Given the description of an element on the screen output the (x, y) to click on. 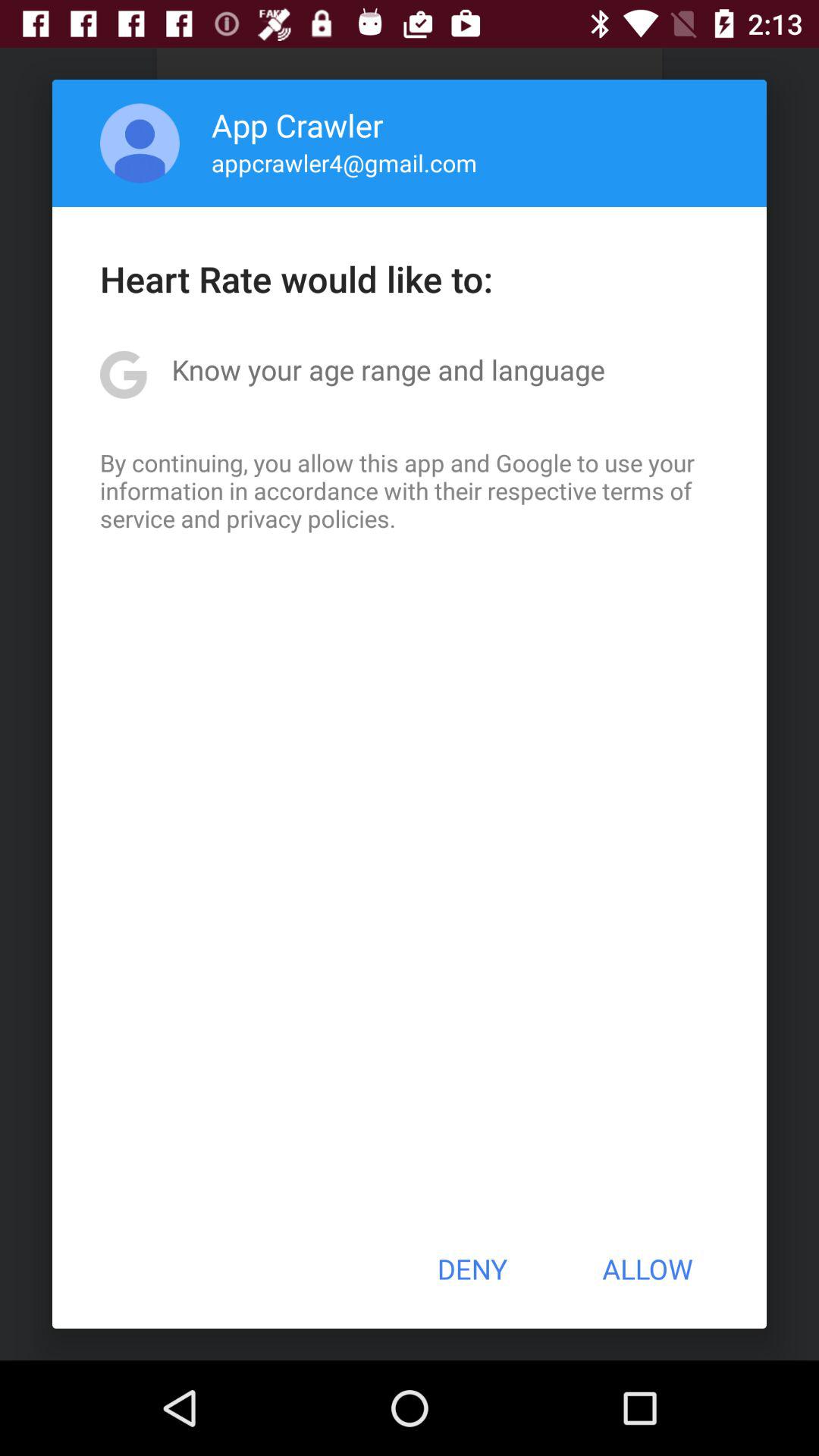
flip until the deny item (471, 1268)
